Given the description of an element on the screen output the (x, y) to click on. 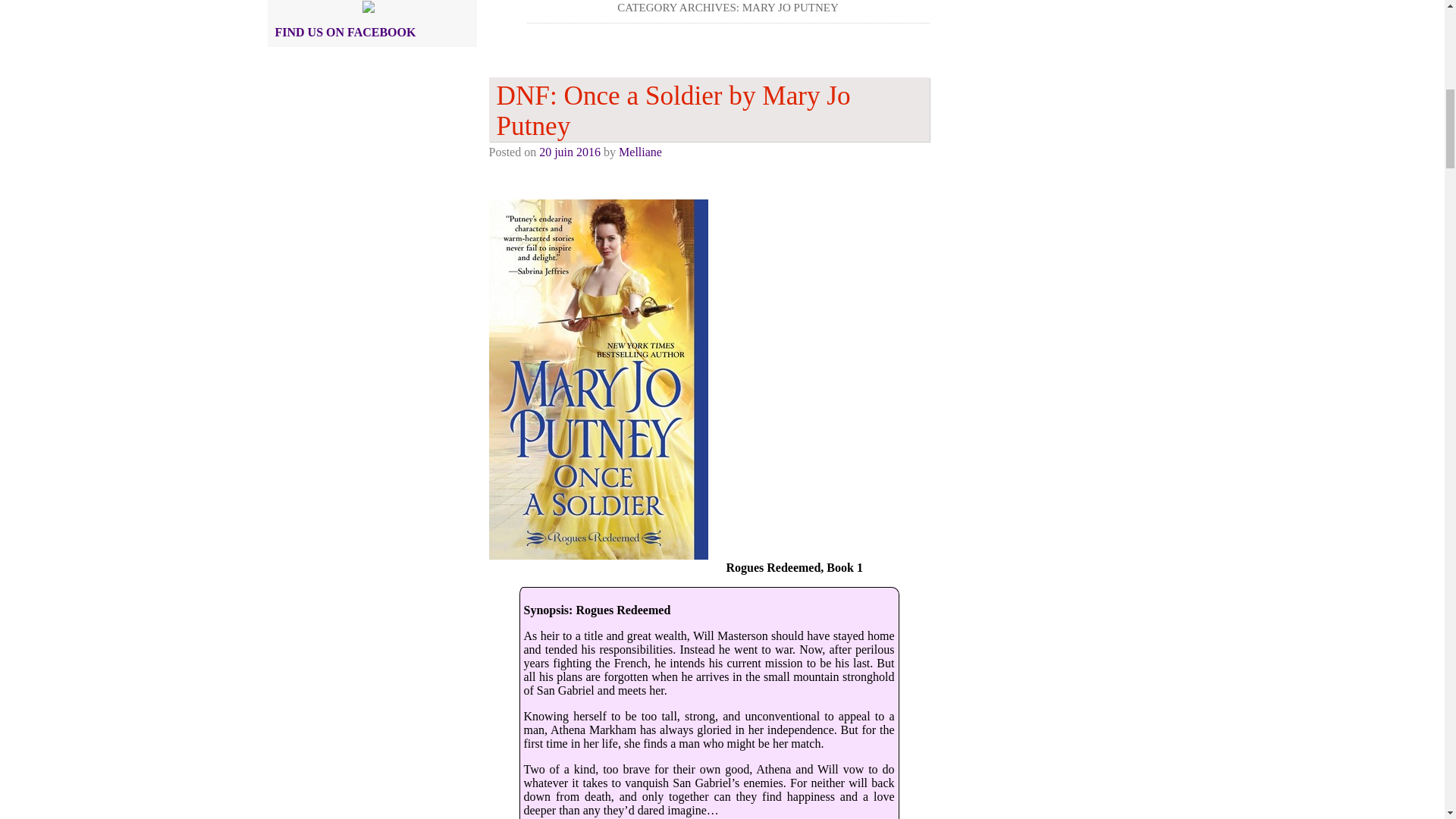
View all posts by Melliane (640, 151)
Melliane (640, 151)
DNF: Once a Soldier by Mary Jo Putney (707, 108)
6 h 37 min (568, 151)
20 juin 2016 (568, 151)
Permalink to DNF: Once a Soldier by Mary Jo Putney (707, 108)
